Given the description of an element on the screen output the (x, y) to click on. 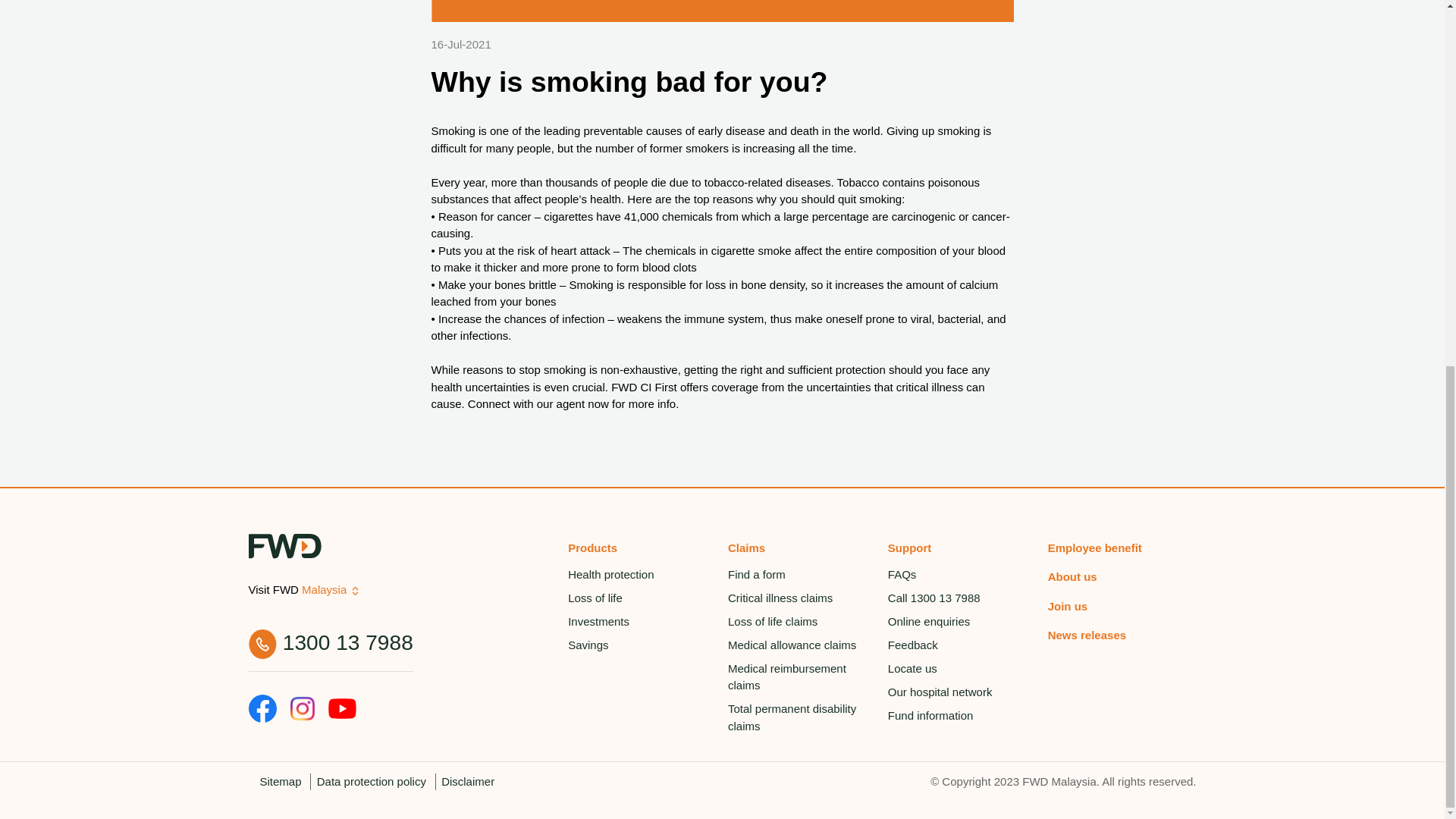
Employee benefit (1122, 548)
Fund information (962, 716)
News releases (1122, 636)
Malaysia (325, 590)
Online enquiries (962, 621)
Total permanent disability claims (802, 717)
Medical allowance claims (802, 645)
Loss of life (641, 598)
Join us (1122, 606)
FAQs (962, 575)
